Given the description of an element on the screen output the (x, y) to click on. 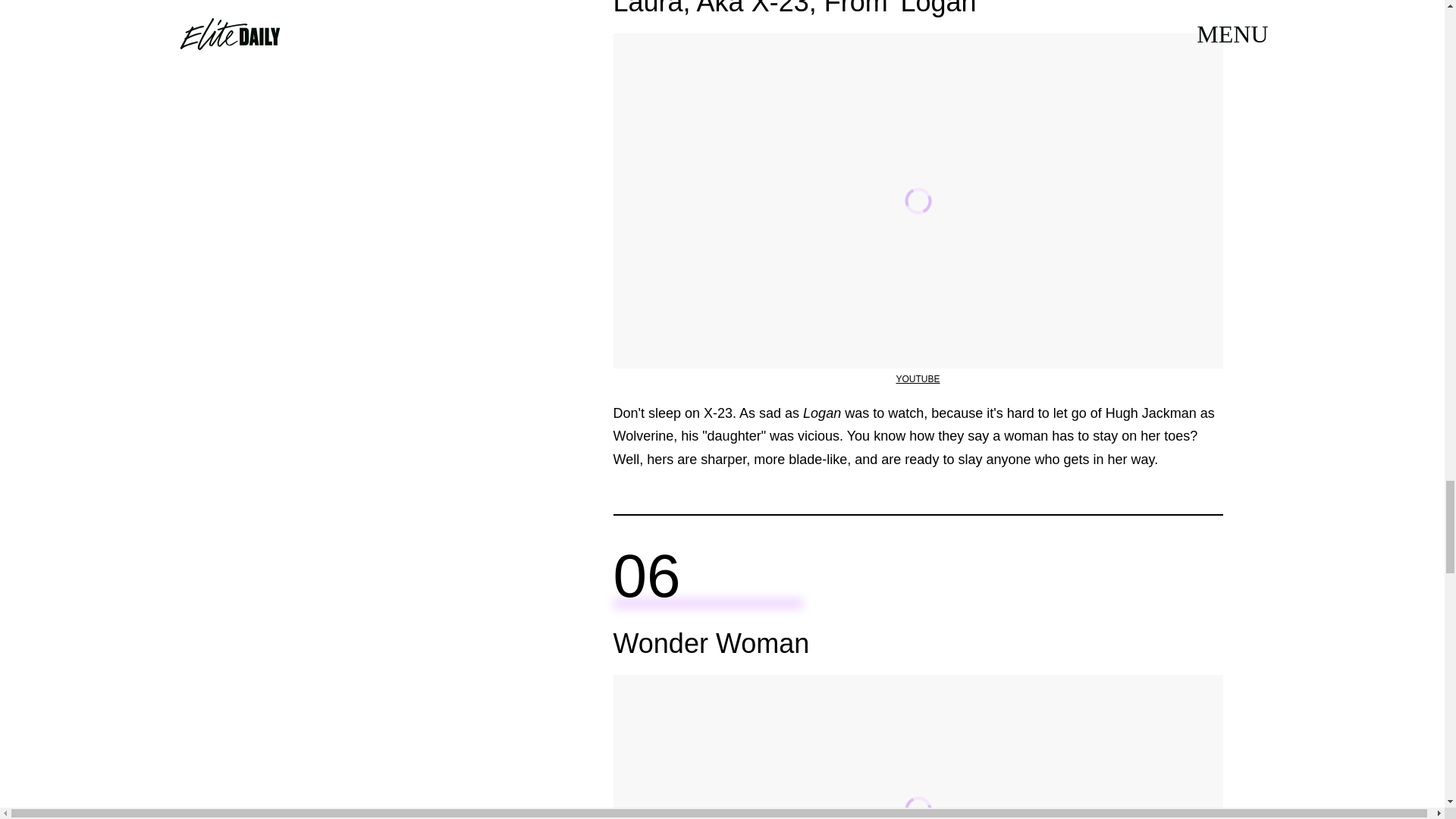
YOUTUBE (917, 378)
